Given the description of an element on the screen output the (x, y) to click on. 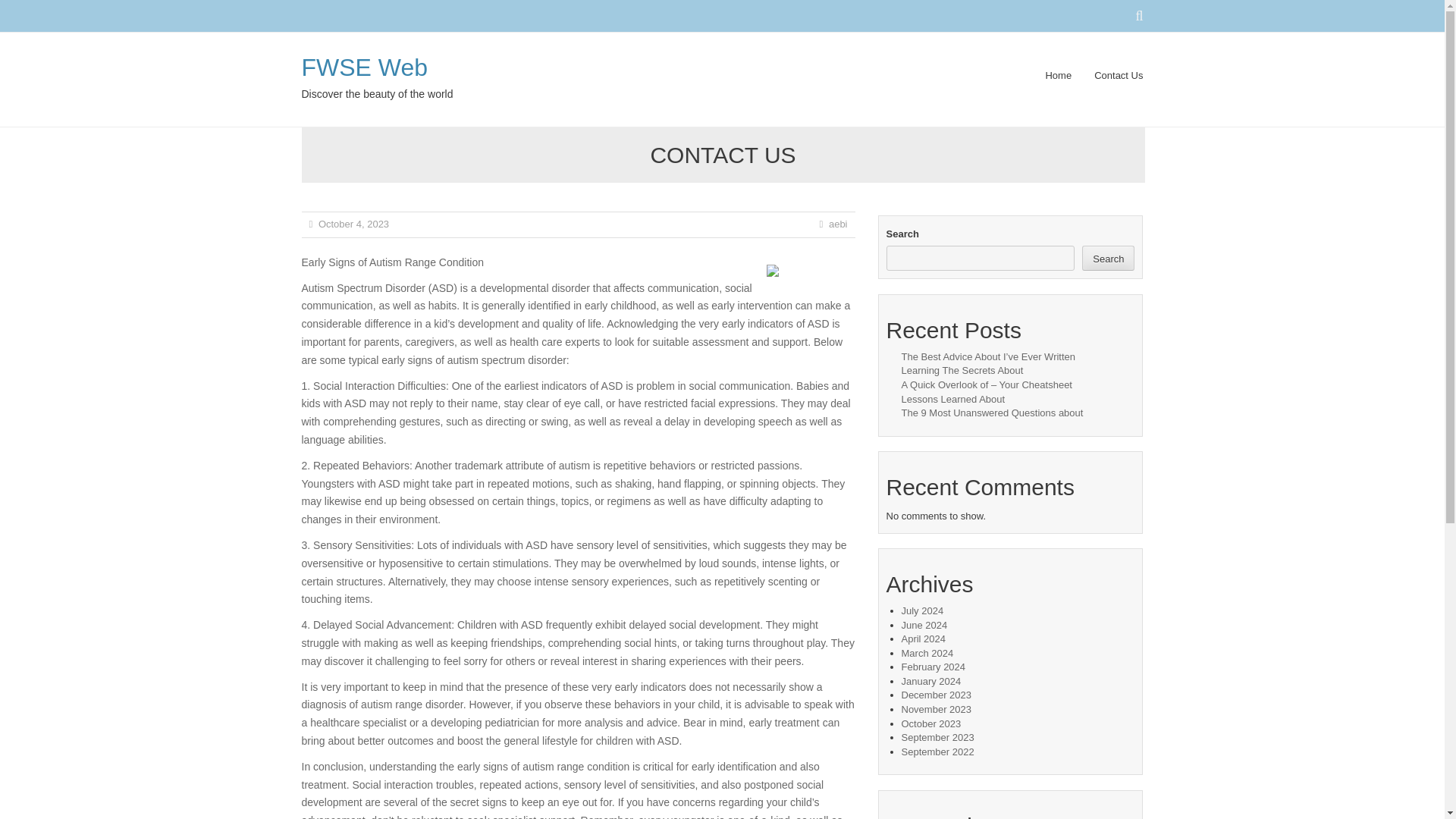
July 2024 (922, 610)
September 2023 (937, 737)
FWSE Web (364, 67)
April 2024 (922, 638)
October 2023 (930, 723)
Lessons Learned About (952, 398)
December 2023 (936, 695)
Learning The Secrets About (962, 369)
January 2024 (930, 681)
Search (1107, 258)
aebi (837, 224)
The 9 Most Unanswered Questions about (992, 412)
March 2024 (927, 653)
November 2023 (936, 708)
June 2024 (924, 624)
